Given the description of an element on the screen output the (x, y) to click on. 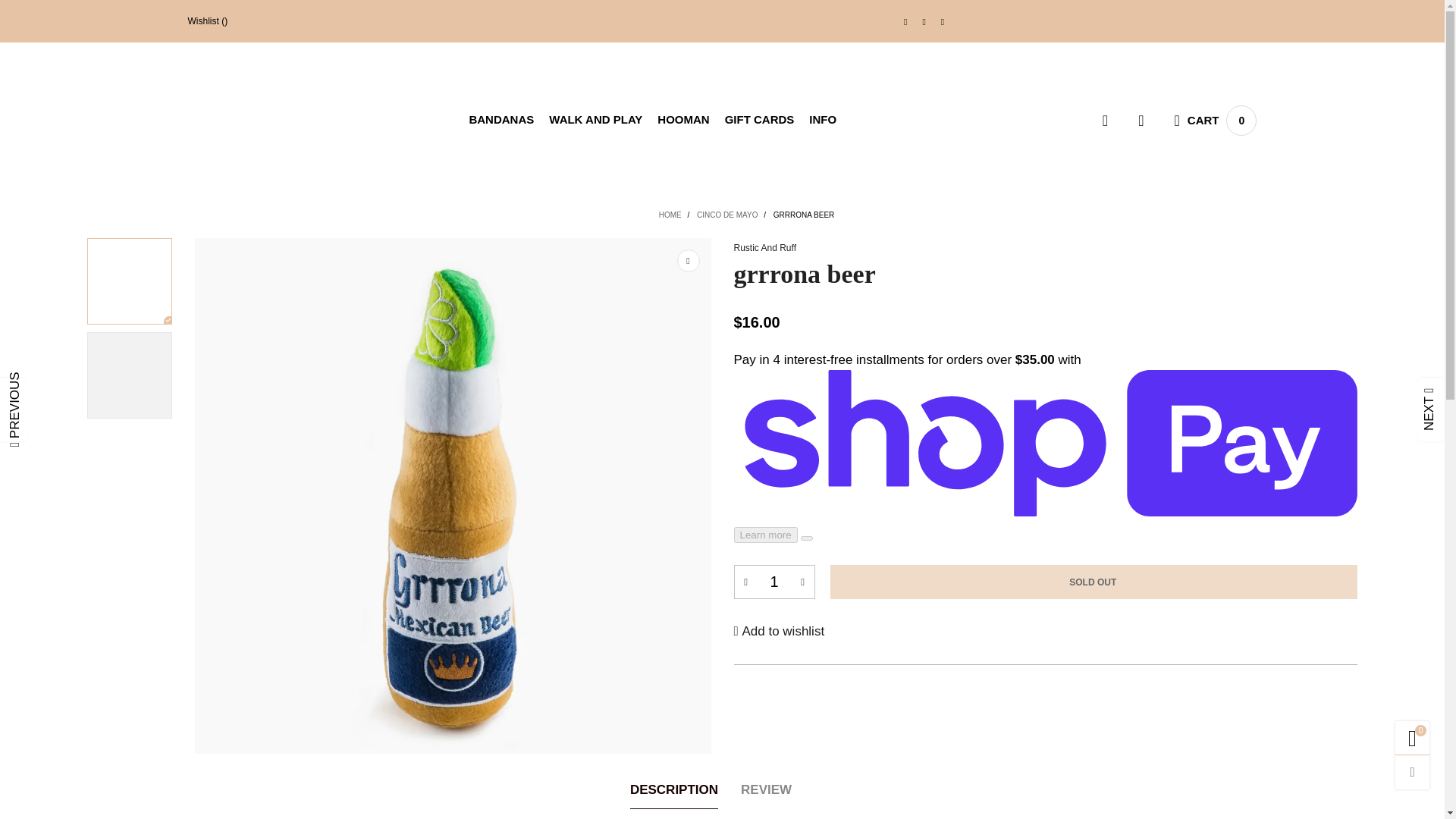
Wishlist (207, 21)
Rustic and Ruff (1215, 120)
Instagram (262, 116)
INFO (942, 20)
GIFT CARDS (822, 119)
Sign In (759, 119)
BANDANAS (1108, 361)
Facebook (501, 119)
HOOMAN (905, 20)
WALK AND PLAY (683, 119)
Pinterest (595, 119)
1 (923, 20)
WALK AND PLAY (773, 581)
BANDANAS (595, 119)
